Given the description of an element on the screen output the (x, y) to click on. 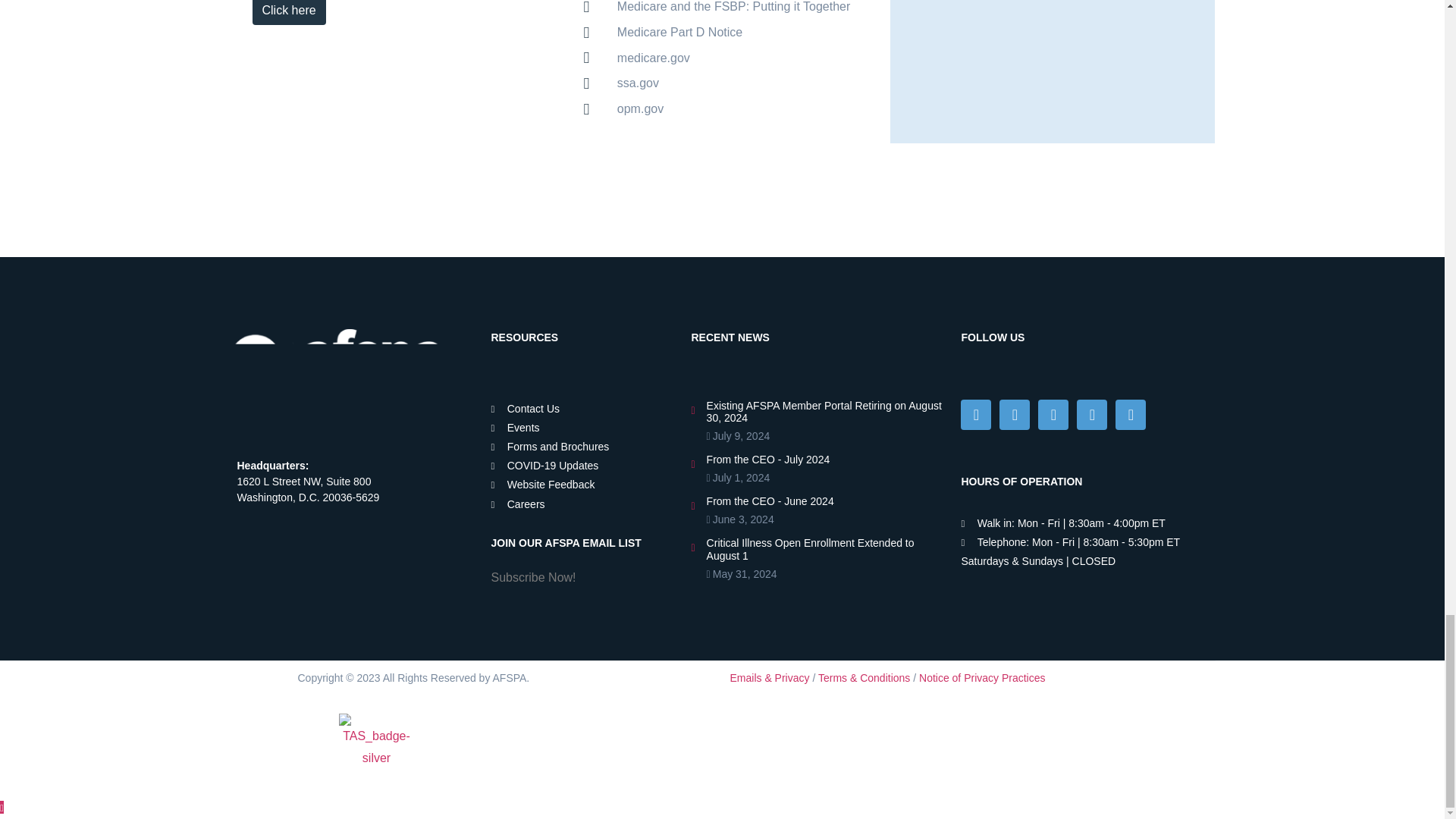
1620 L Street NW, Washington, DC 20036 (335, 573)
